Given the description of an element on the screen output the (x, y) to click on. 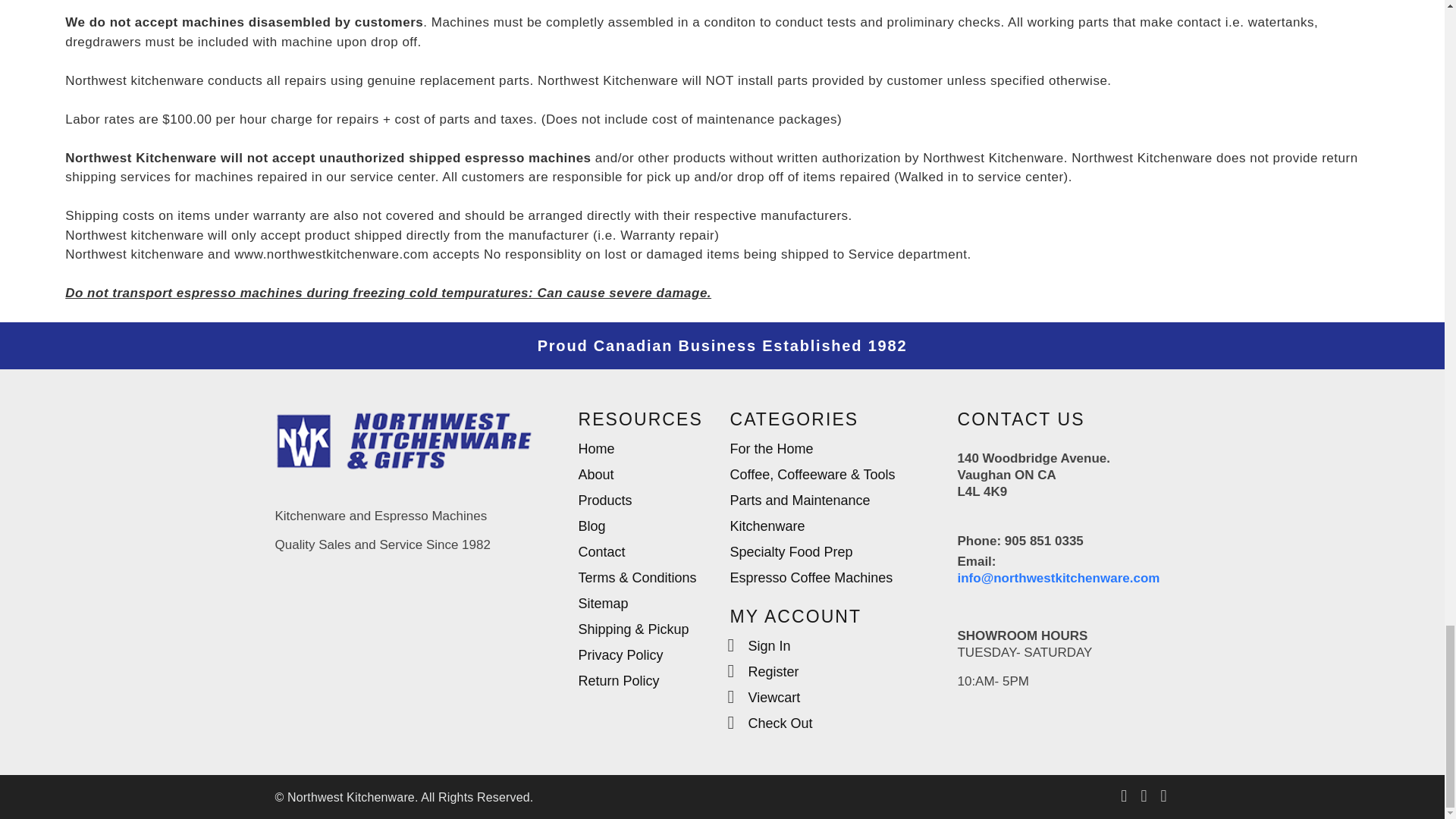
Home (596, 450)
About (595, 475)
